Given the description of an element on the screen output the (x, y) to click on. 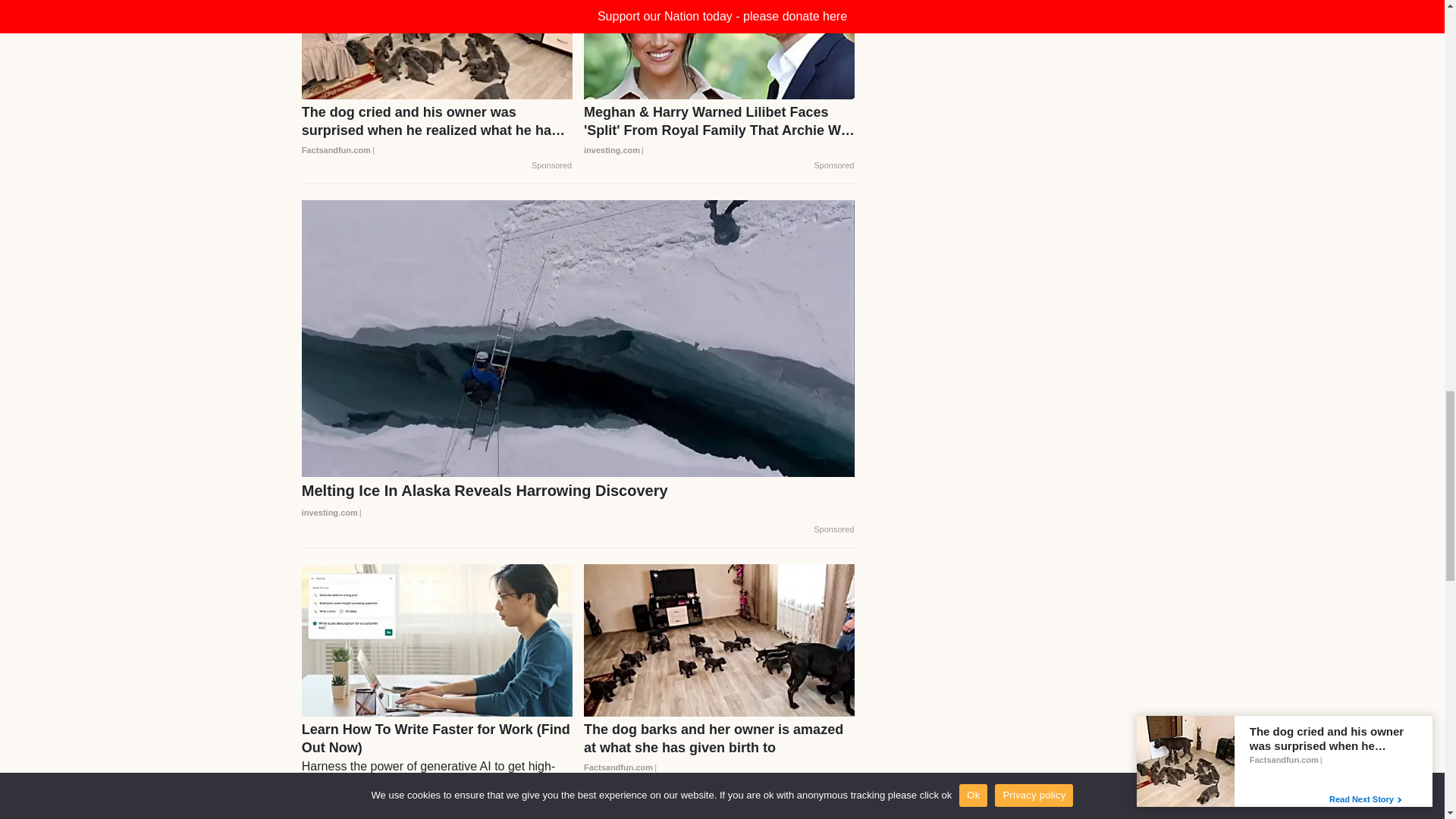
Melting Ice In Alaska Reveals Harrowing Discovery (578, 501)
Sponsored (551, 165)
